Given the description of an element on the screen output the (x, y) to click on. 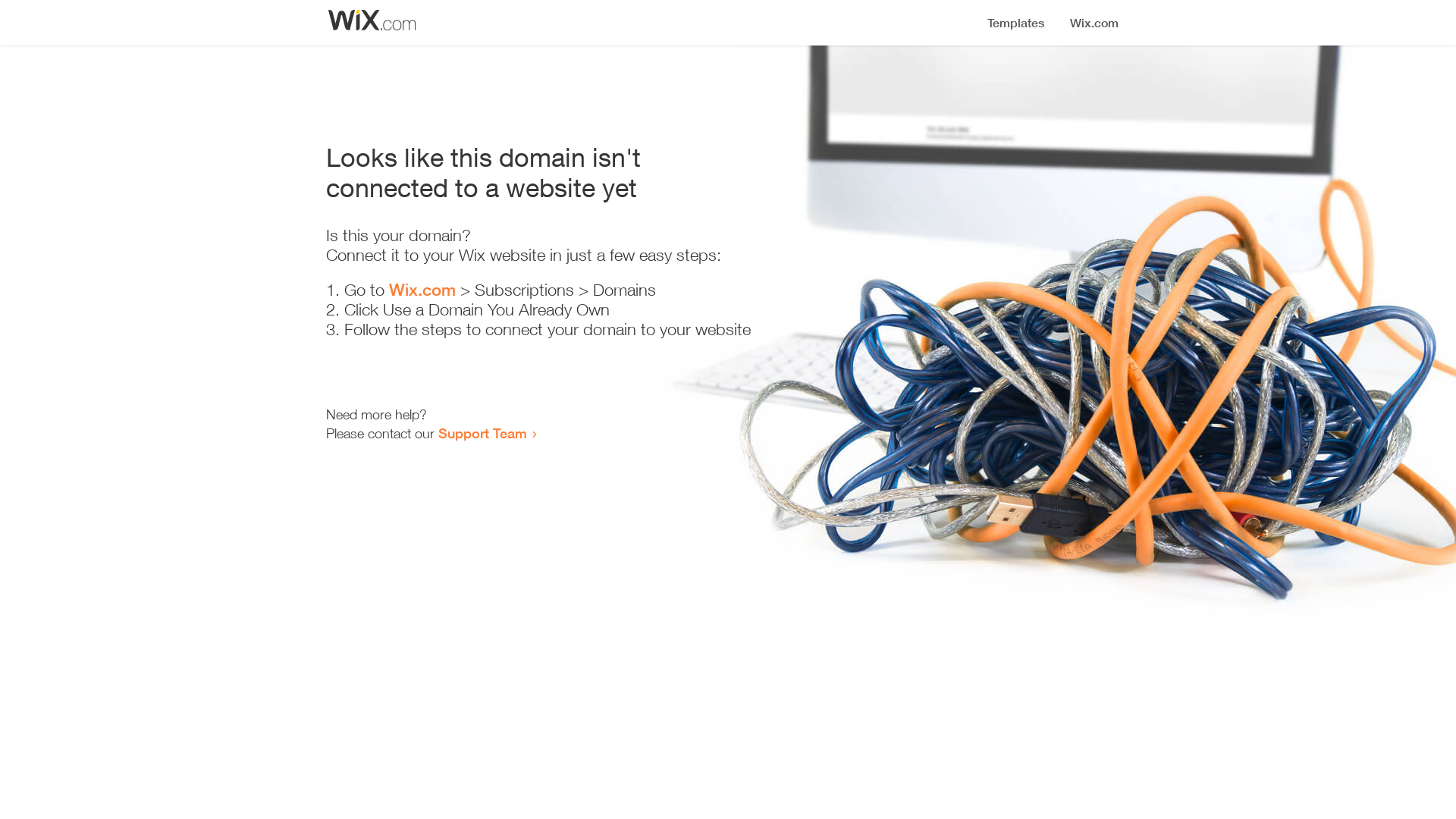
Support Team Element type: text (482, 432)
Wix.com Element type: text (422, 289)
